Given the description of an element on the screen output the (x, y) to click on. 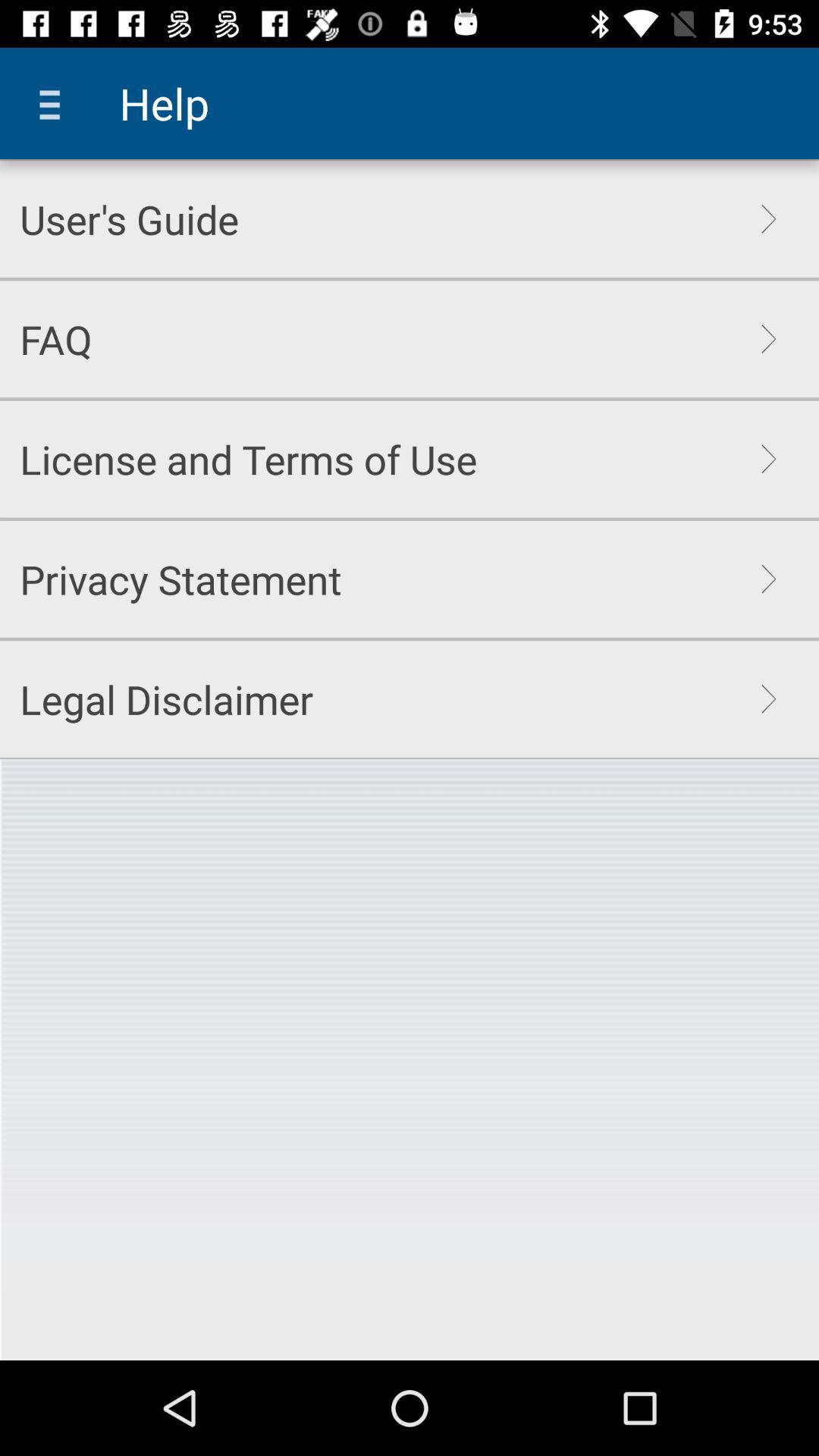
swipe until license and terms icon (248, 458)
